Given the description of an element on the screen output the (x, y) to click on. 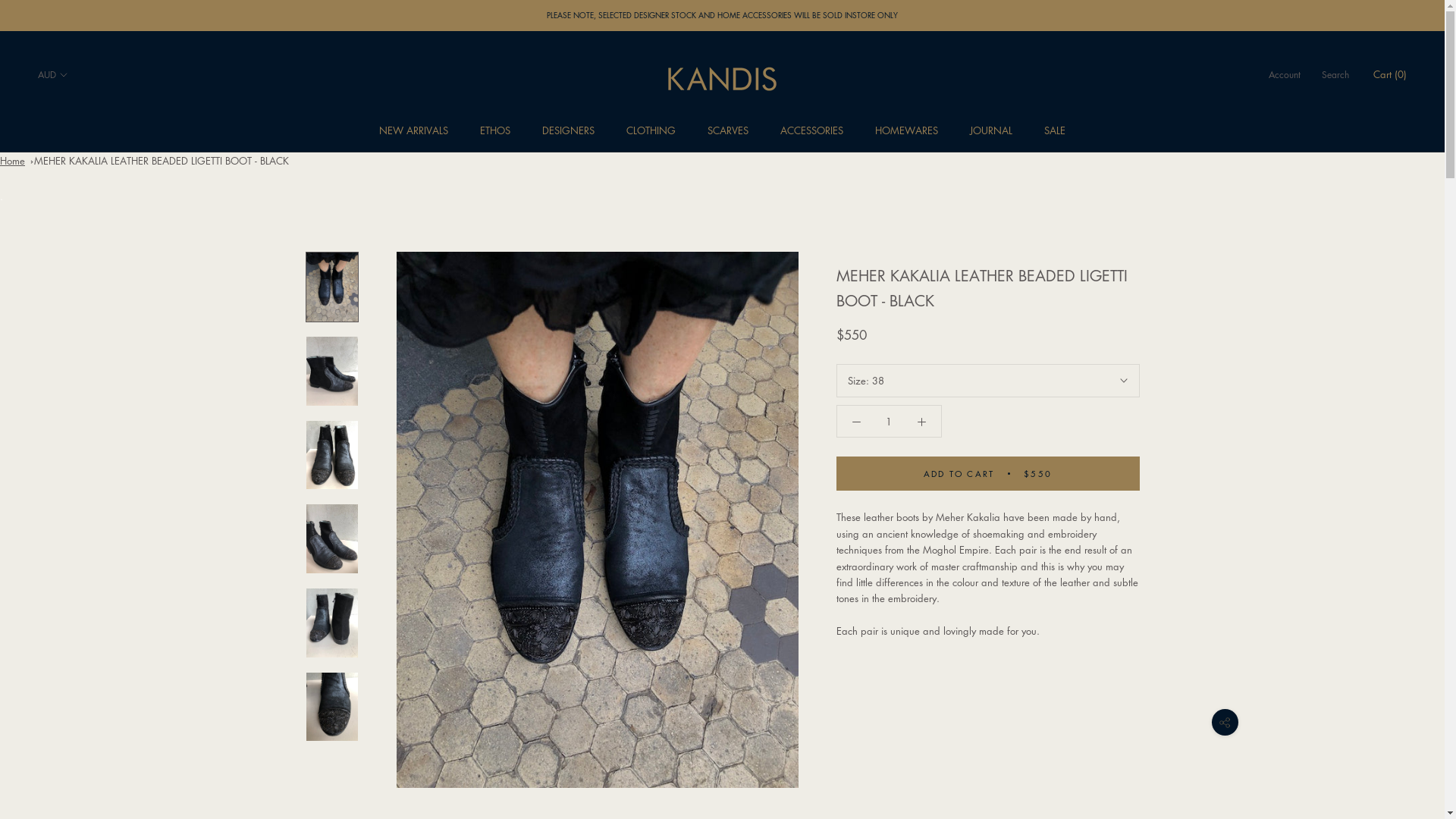
Cart (0) Element type: text (1389, 73)
ETHOS
ETHOS Element type: text (495, 129)
NEW ARRIVALS
NEW ARRIVALS Element type: text (413, 129)
CLOTHING Element type: text (650, 129)
SALE
SALE Element type: text (1054, 129)
Search Element type: text (1335, 74)
Account Element type: text (1284, 74)
HOMEWARES Element type: text (906, 129)
ACCESSORIES Element type: text (811, 129)
Size: 38 Element type: text (987, 380)
Home Element type: text (12, 160)
JOURNAL
JOURNAL Element type: text (990, 129)
ADD TO CART
$550 Element type: text (987, 473)
SCARVES Element type: text (727, 129)
MEHER KAKALIA LEATHER BEADED LIGETTI BOOT - BLACK Element type: text (161, 160)
DESIGNERS Element type: text (568, 129)
